Given the description of an element on the screen output the (x, y) to click on. 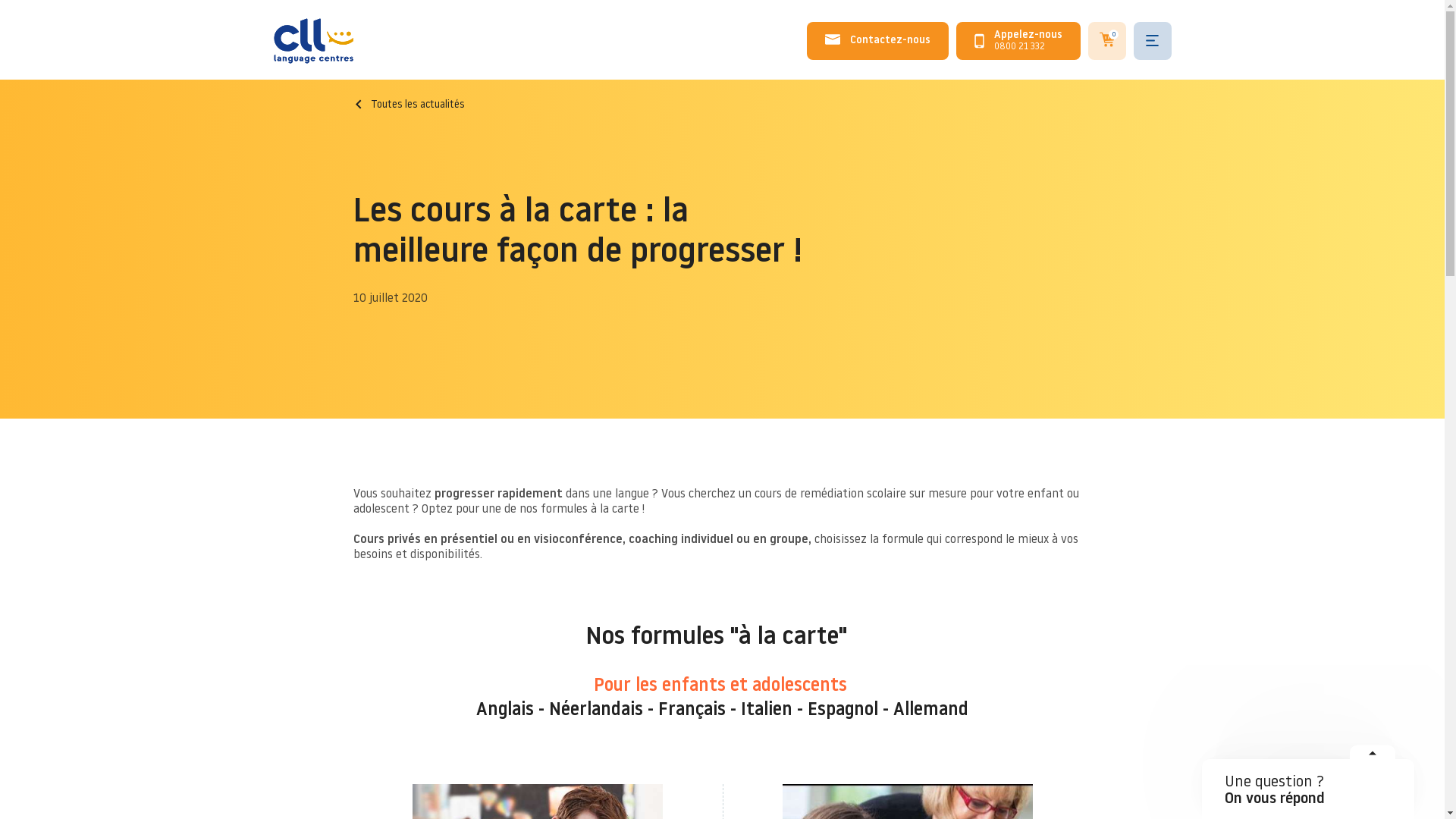
Ouvrir la modal Element type: text (1372, 758)
Contactez-nous Element type: text (877, 40)
Appelez-nous
0800 21 332 Element type: text (1018, 40)
0 Element type: text (1107, 40)
